Given the description of an element on the screen output the (x, y) to click on. 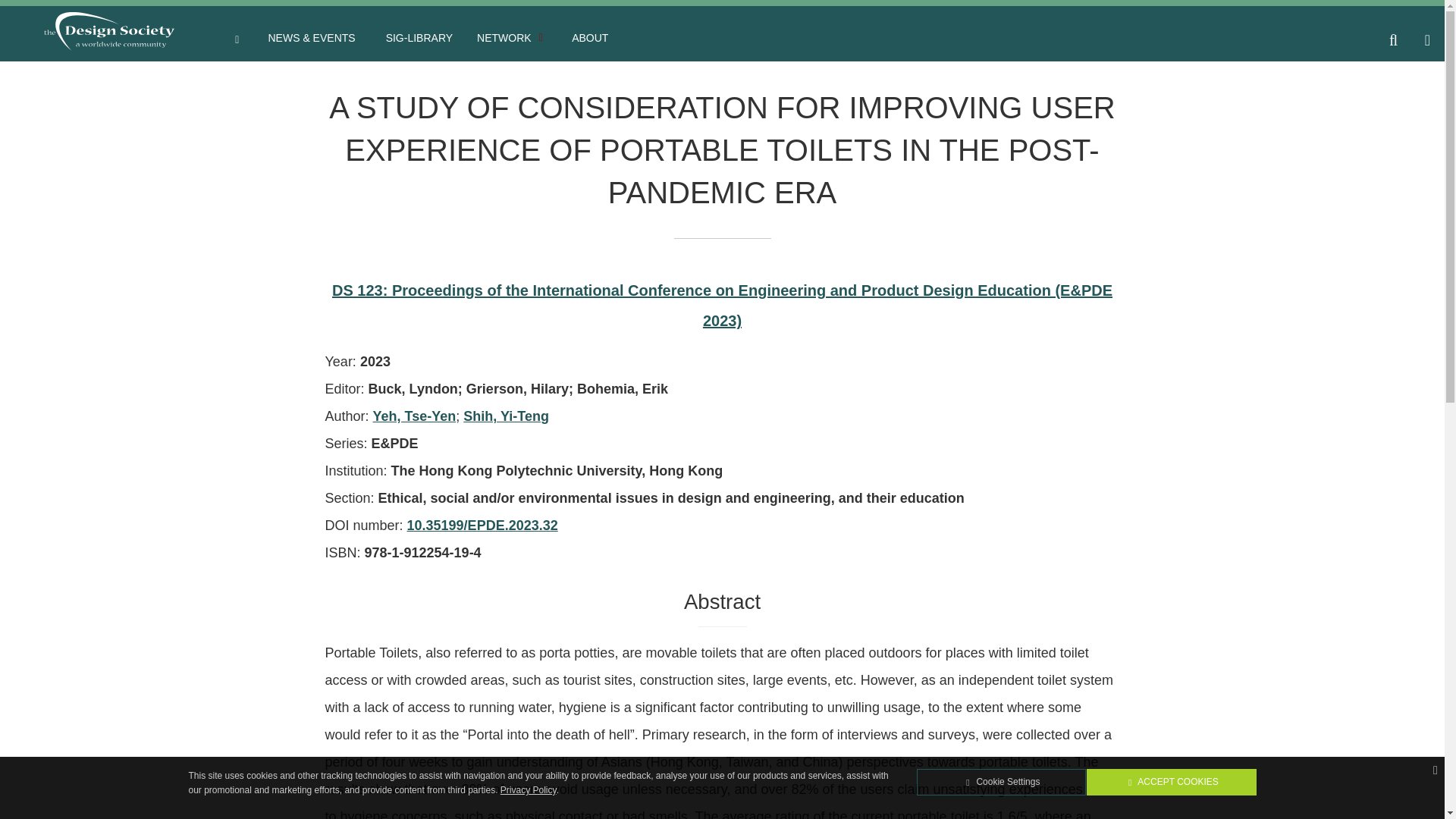
Shih, Yi-Teng (505, 416)
Cookie Settings (1000, 782)
SIG-LIBRARY (419, 38)
Privacy Policy (528, 789)
NETWORK (511, 38)
Yeh, Tse-Yen (414, 416)
ACCEPT COOKIES (1171, 782)
ABOUT (589, 38)
